Given the description of an element on the screen output the (x, y) to click on. 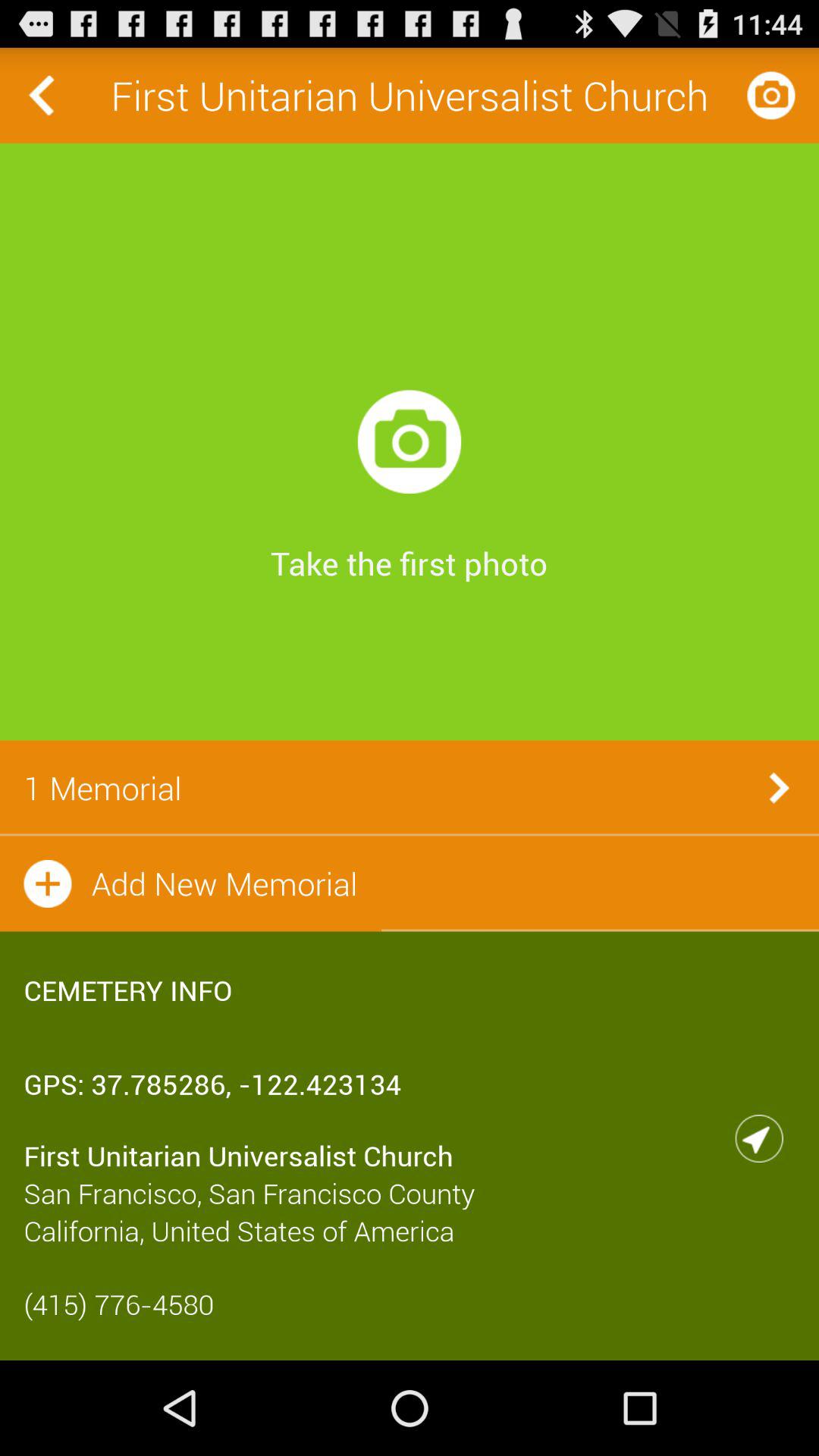
launch the icon below the california united states icon (409, 1303)
